Given the description of an element on the screen output the (x, y) to click on. 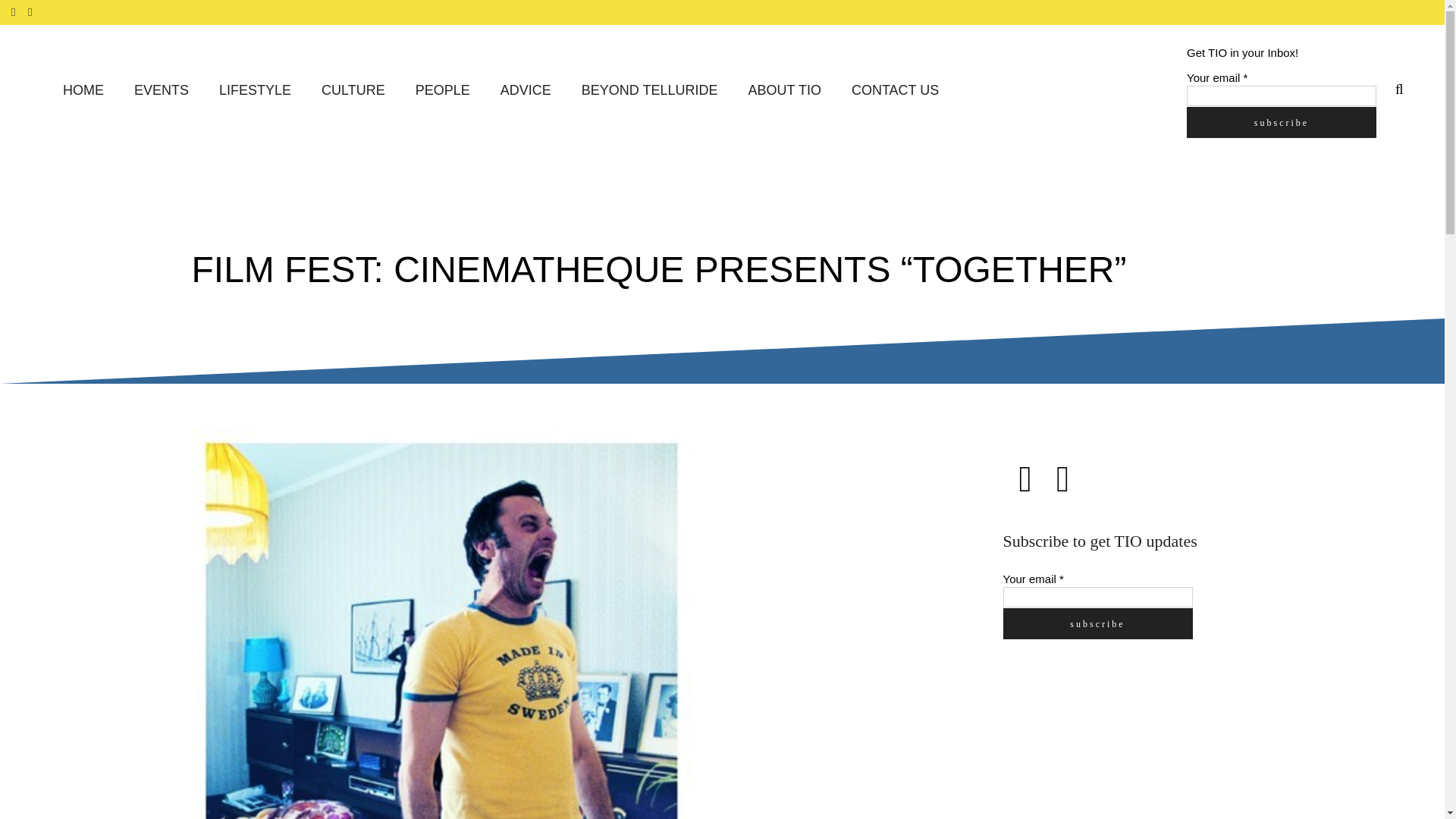
CONTACT US (894, 90)
Your email (1280, 95)
BEYOND TELLURIDE (649, 90)
Subscribe (1097, 623)
Your email (1097, 597)
Subscribe (1280, 121)
Subscribe (1280, 121)
